Given the description of an element on the screen output the (x, y) to click on. 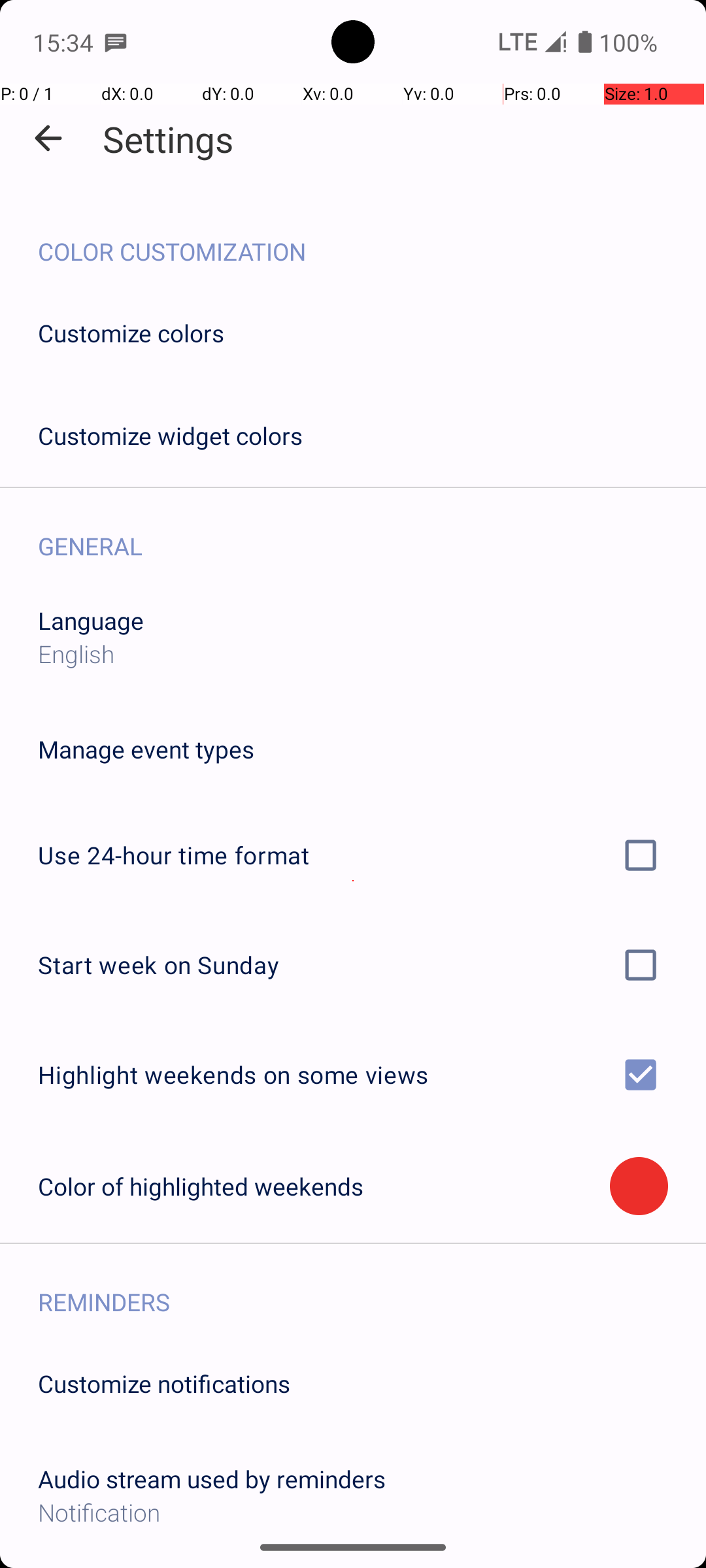
Color of highlighted weekends Element type: android.widget.TextView (323, 1186)
